Given the description of an element on the screen output the (x, y) to click on. 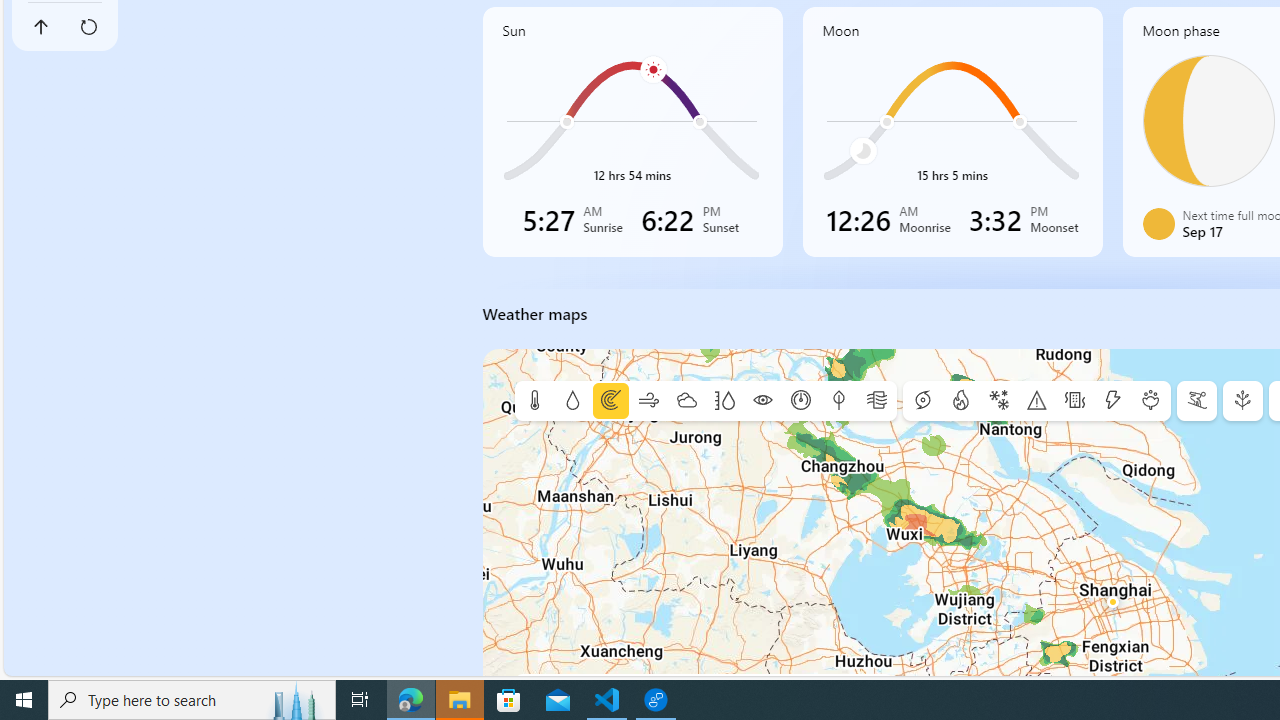
Fire information (960, 401)
Temperature (533, 401)
Dew point (838, 401)
Ski conditions (1195, 401)
Wind (647, 401)
Pollen (1149, 401)
Clouds (686, 401)
Sea level pressure (800, 401)
